Given the description of an element on the screen output the (x, y) to click on. 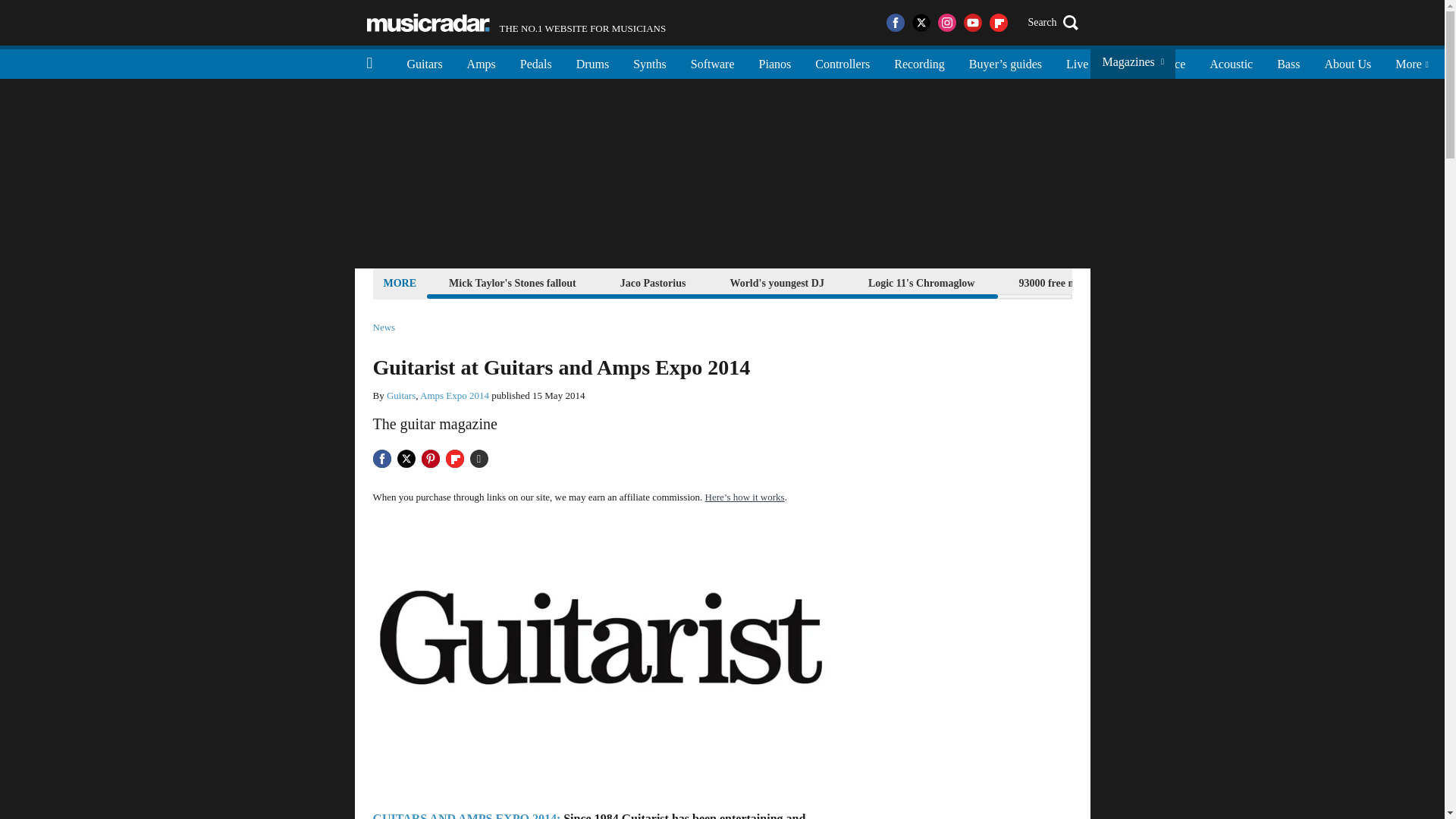
Synths (649, 61)
Mick Taylor's Stones fallout (512, 282)
Acoustic (1230, 61)
World's youngest DJ (775, 282)
Guitars (424, 61)
About Us (1347, 61)
News (384, 327)
Drums (592, 61)
Jaco Pastorius (652, 282)
Logic 11's Chromaglow (921, 282)
Pianos (774, 61)
Advice (1167, 61)
Music Radar (427, 22)
Live (1077, 61)
DJ (1119, 61)
